Given the description of an element on the screen output the (x, y) to click on. 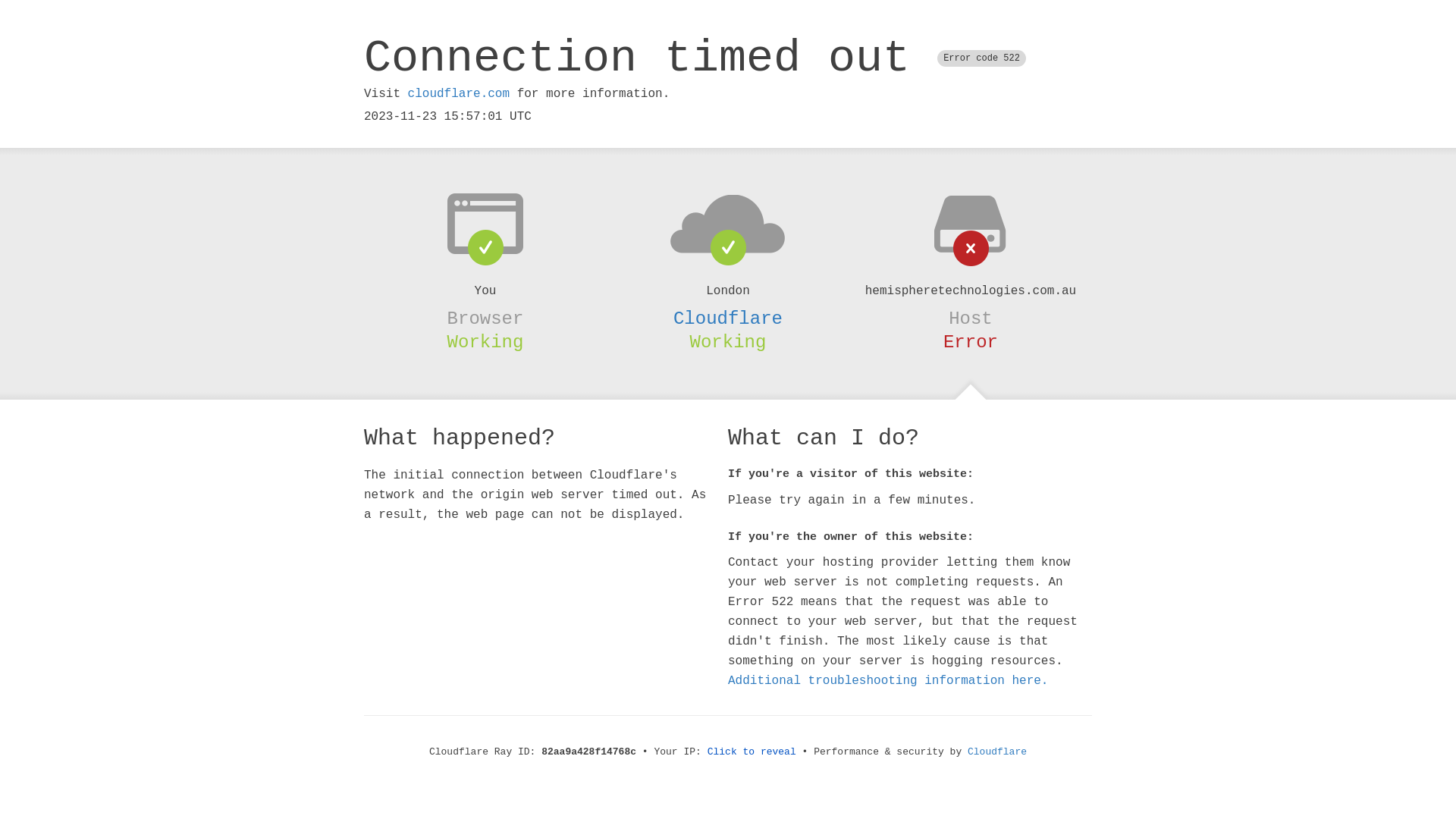
cloudflare.com Element type: text (458, 93)
Cloudflare Element type: text (996, 751)
Cloudflare Element type: text (727, 318)
Click to reveal Element type: text (751, 751)
Additional troubleshooting information here. Element type: text (888, 680)
